Given the description of an element on the screen output the (x, y) to click on. 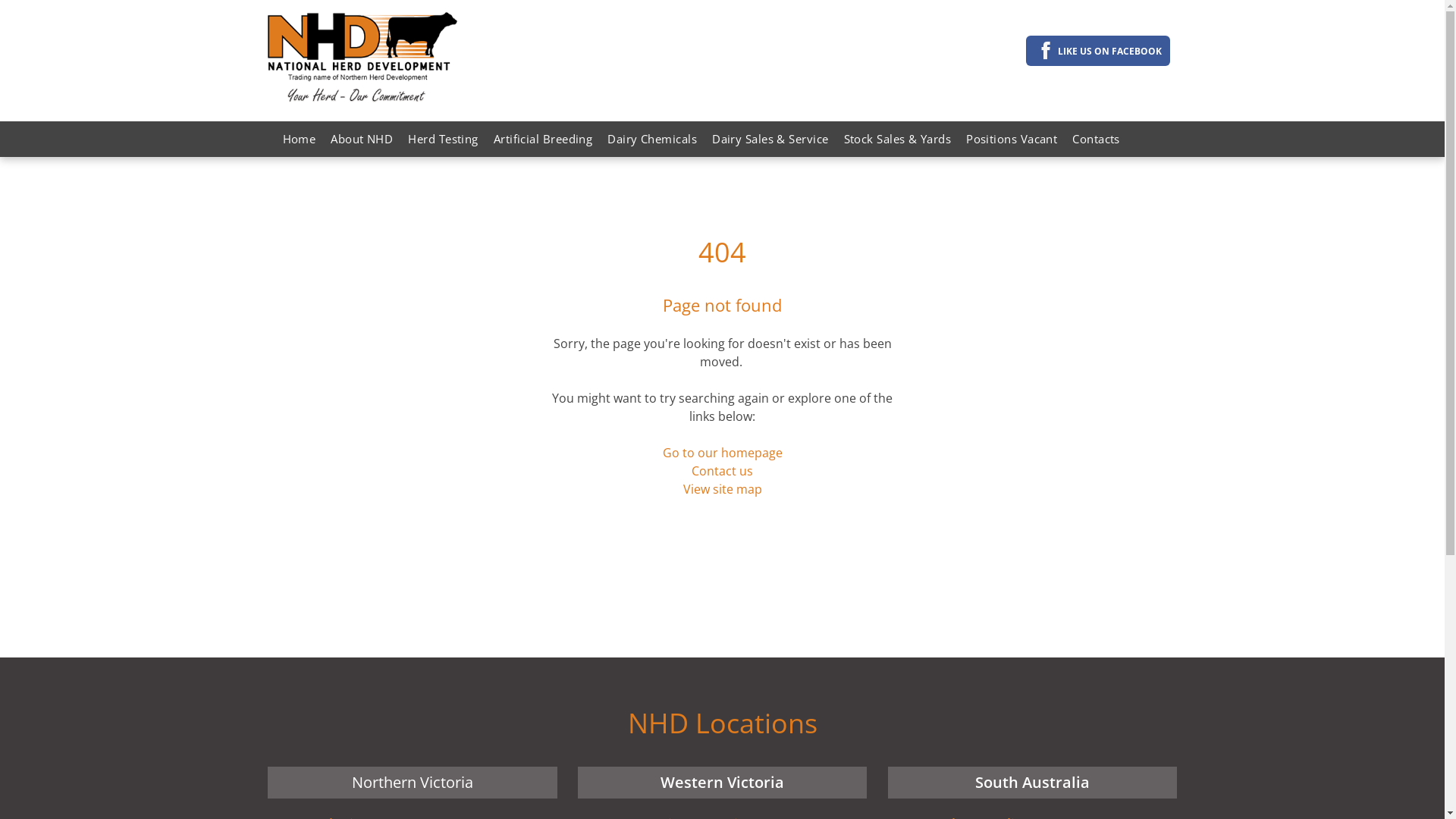
Dairy Chemicals Element type: text (651, 138)
Home Element type: text (298, 138)
Positions Vacant Element type: text (1011, 138)
Contact us Element type: text (722, 470)
About NHD Element type: text (361, 138)
Go to our homepage Element type: text (722, 452)
View site map Element type: text (721, 488)
Dairy Sales & Service Element type: text (769, 138)
Stock Sales & Yards Element type: text (897, 138)
Contacts Element type: text (1095, 138)
LIKE US ON FACEBOOK Element type: text (1098, 50)
Herd Testing Element type: text (442, 138)
Artificial Breeding Element type: text (543, 138)
